Given the description of an element on the screen output the (x, y) to click on. 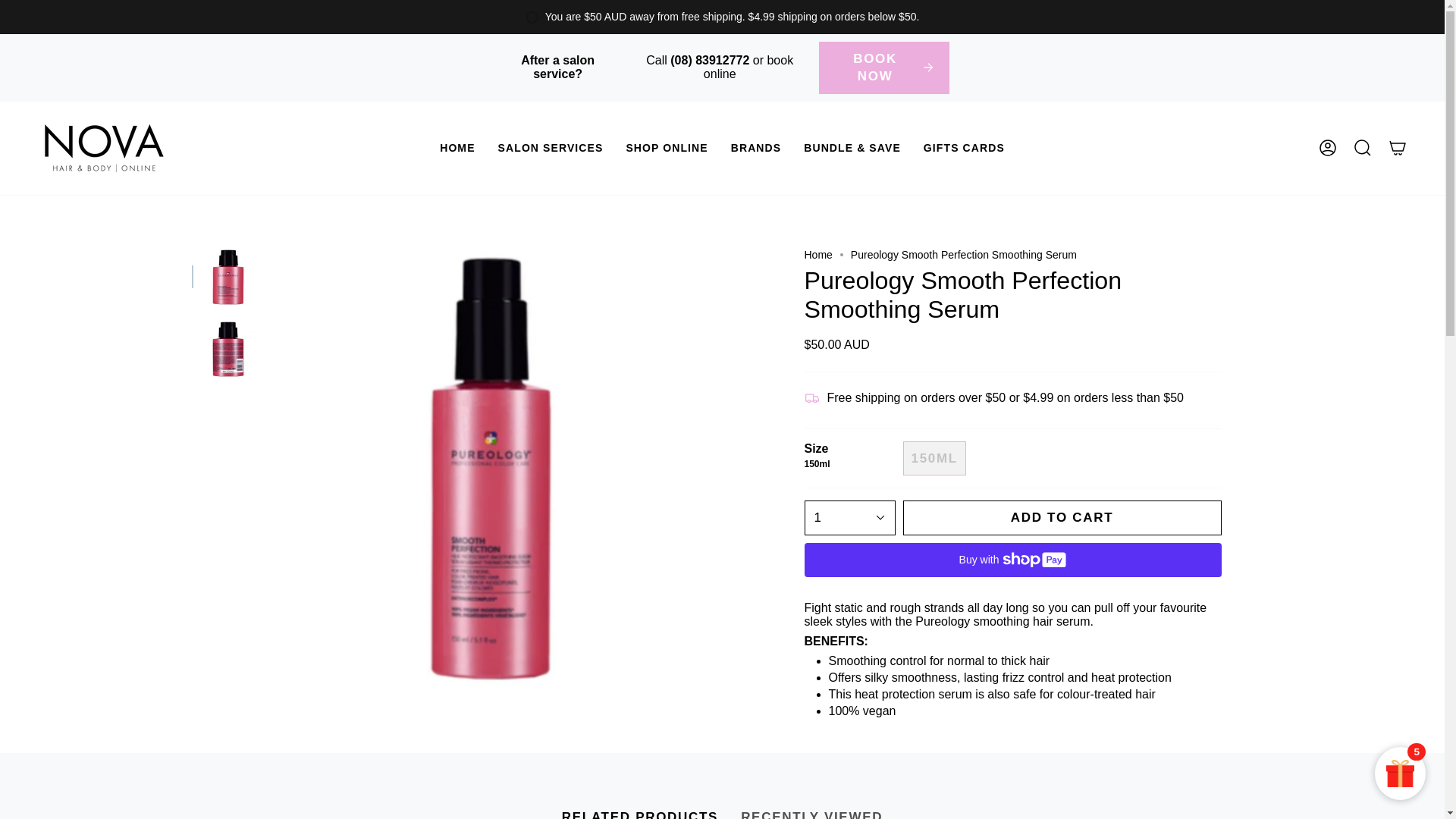
BOOK NOW (884, 67)
SALON SERVICES (550, 147)
SHOP ONLINE (666, 147)
